Given the description of an element on the screen output the (x, y) to click on. 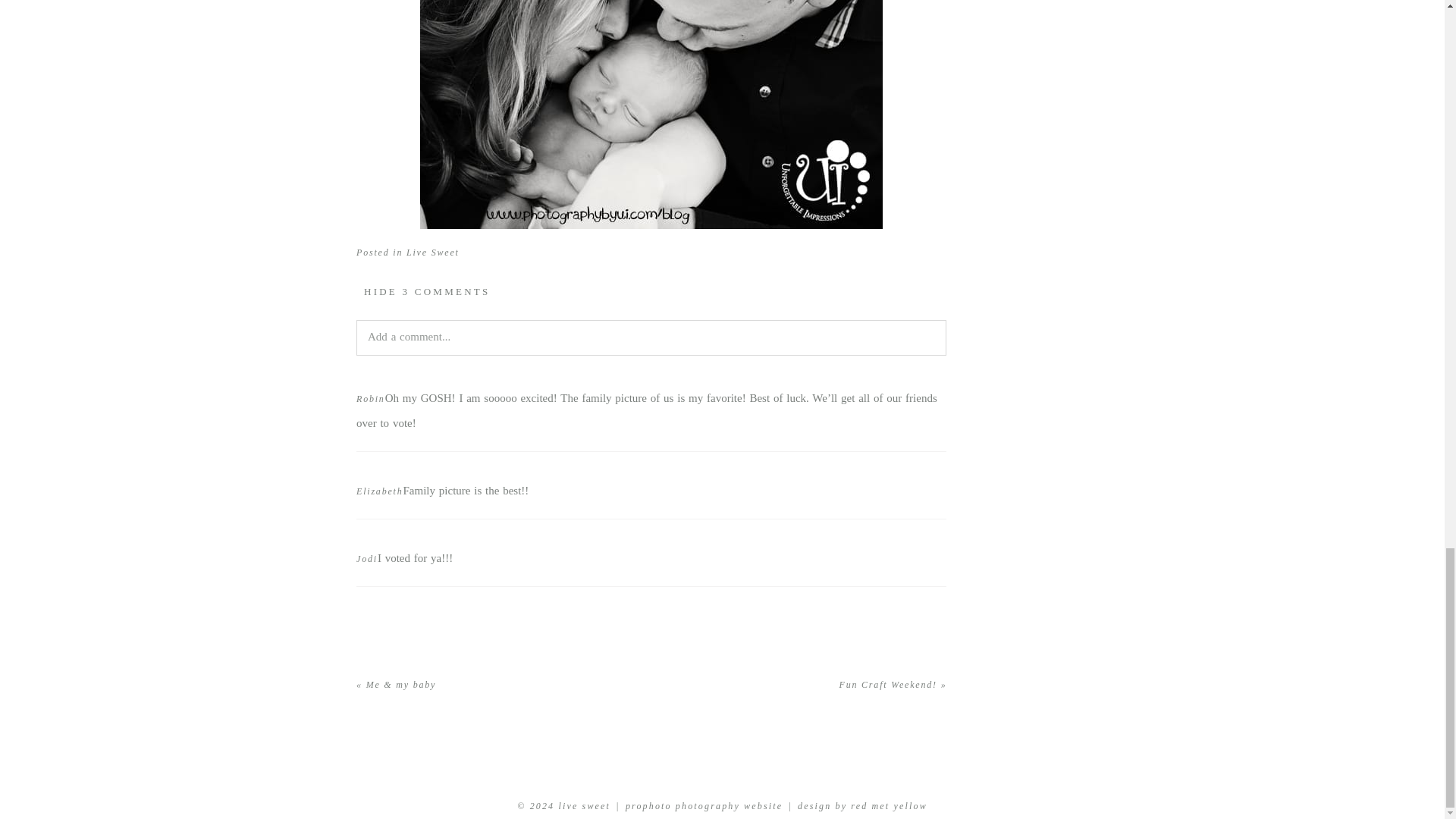
ProPhoto Website (704, 805)
